Given the description of an element on the screen output the (x, y) to click on. 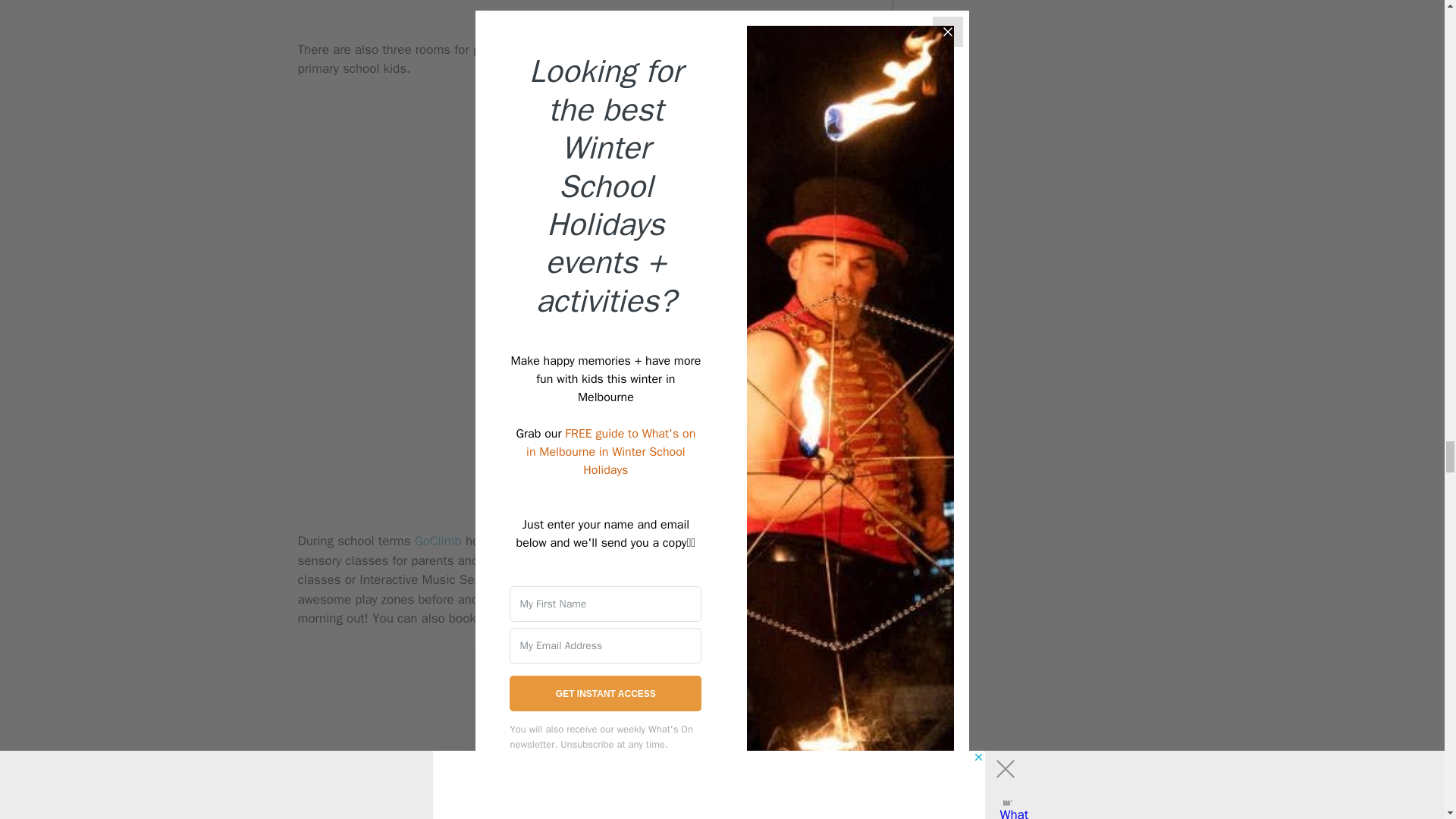
 GoClimb (435, 540)
WonderPlay (736, 540)
